Given the description of an element on the screen output the (x, y) to click on. 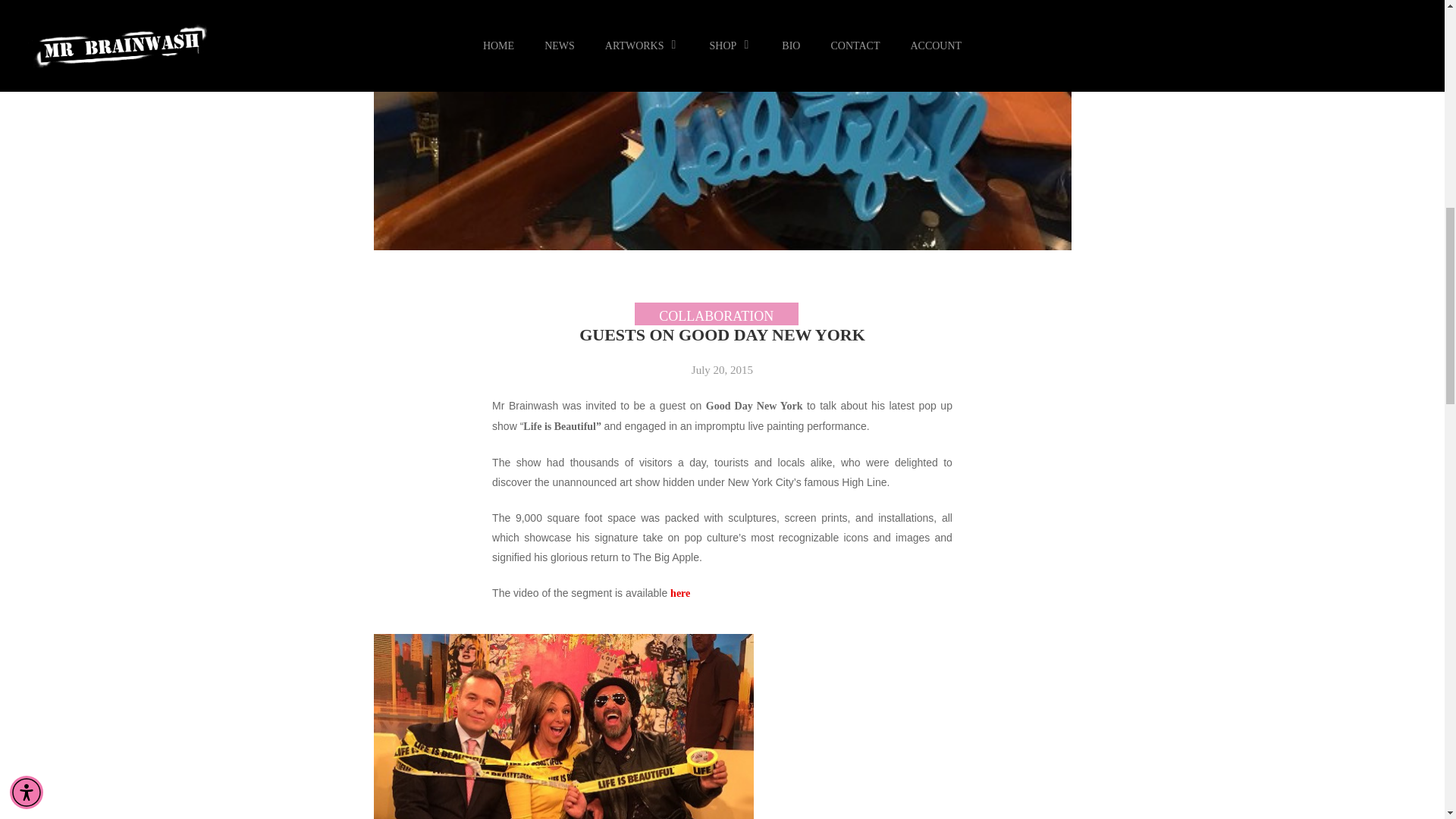
here (679, 593)
